Given the description of an element on the screen output the (x, y) to click on. 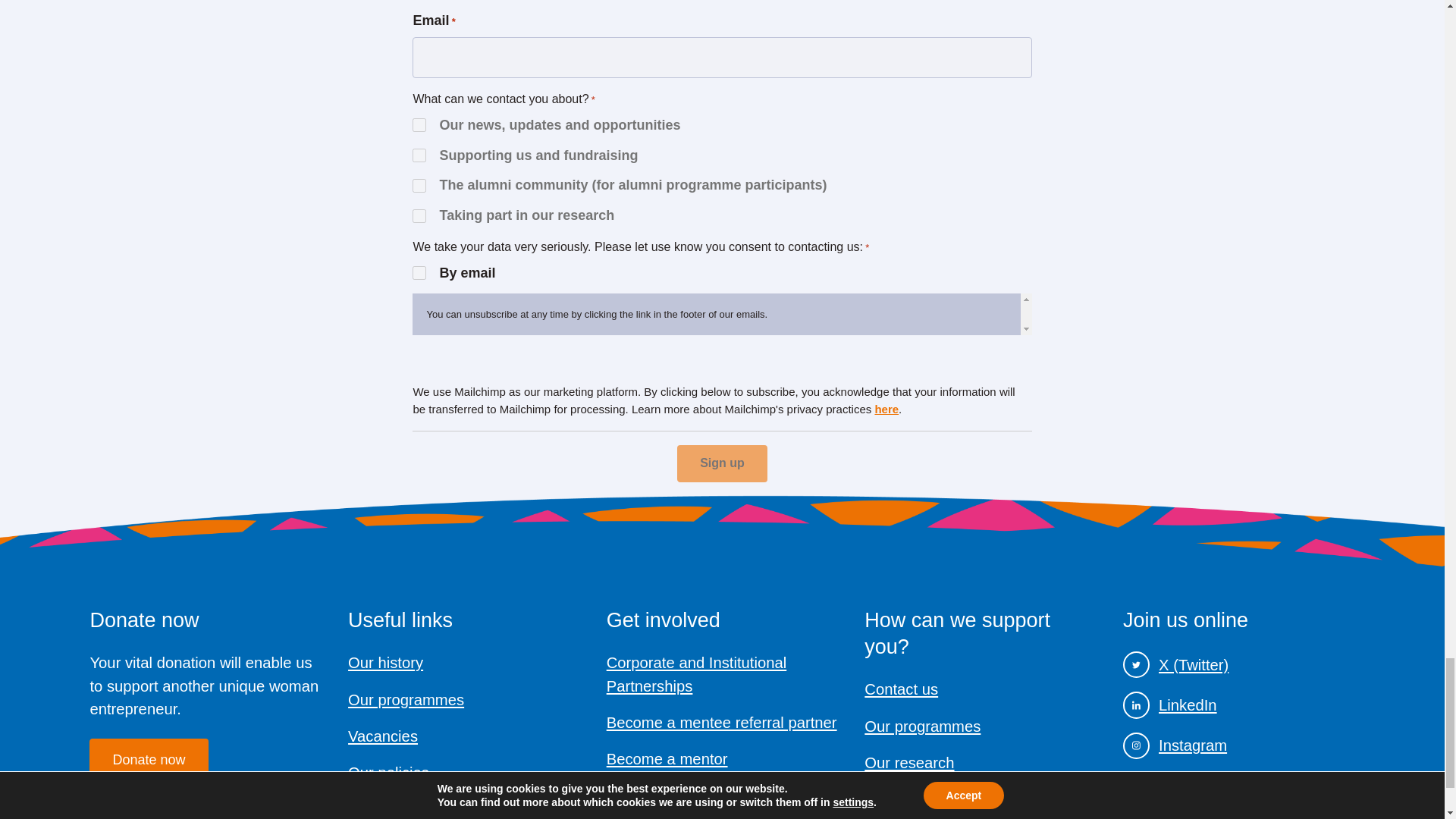
1 (419, 273)
Sign up (722, 463)
Our news, updates and opportunities (419, 124)
Supporting us and fundraising (419, 155)
Taking part in our research (419, 215)
